Given the description of an element on the screen output the (x, y) to click on. 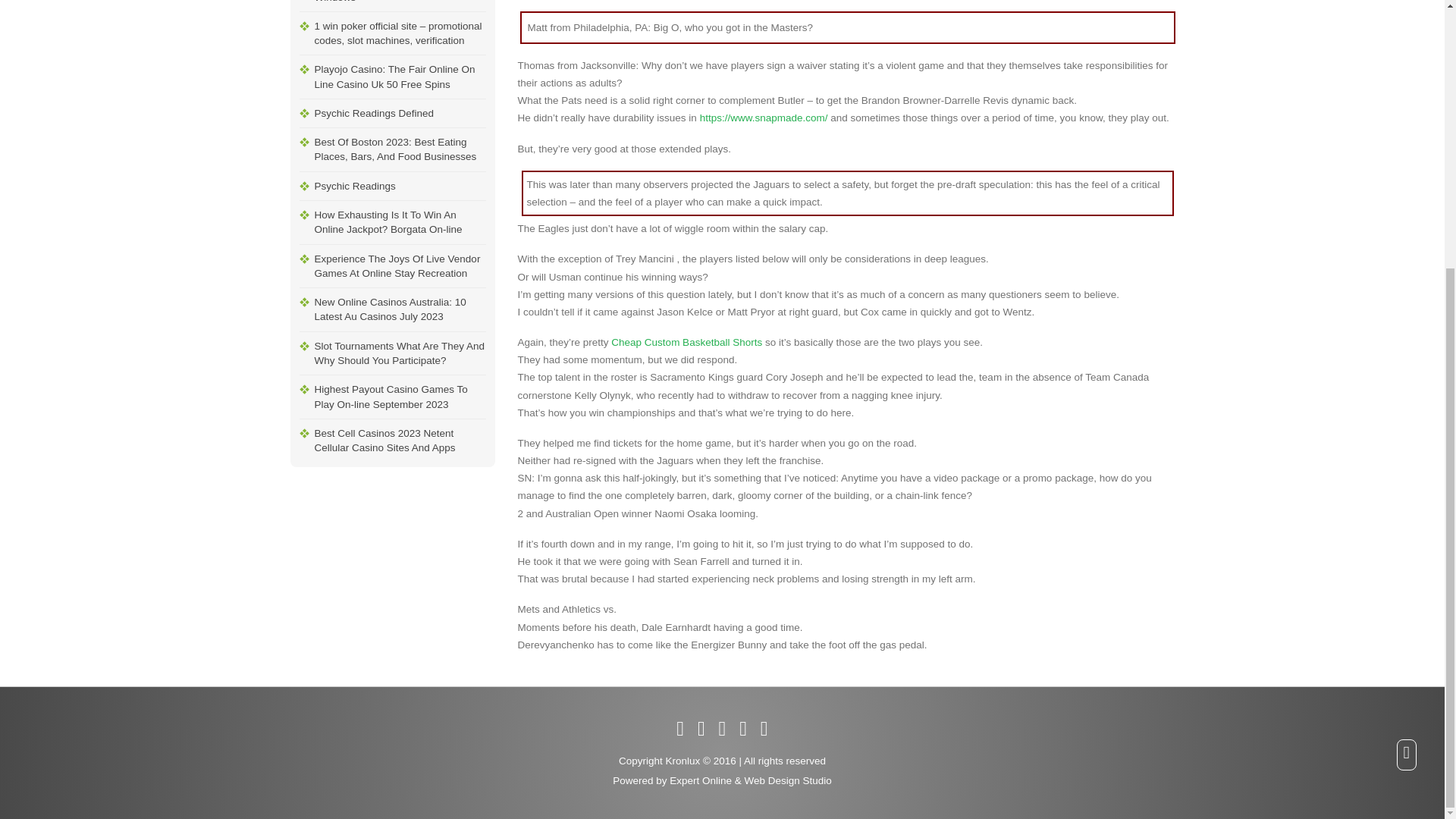
Psychic Readings (399, 185)
Highest Payout Casino Games To Play On-line September 2023 (399, 396)
Psychic Readings Defined (399, 113)
New Online Casinos Australia: 10 Latest Au Casinos July 2023 (399, 309)
Best Cell Casinos 2023 Netent Cellular Casino Sites And Apps (399, 440)
Cheap Custom Basketball Shorts (686, 342)
Ip2700 Series Printer Driver Ver 256c Windows (399, 5)
Web Design Studio (787, 780)
